Given the description of an element on the screen output the (x, y) to click on. 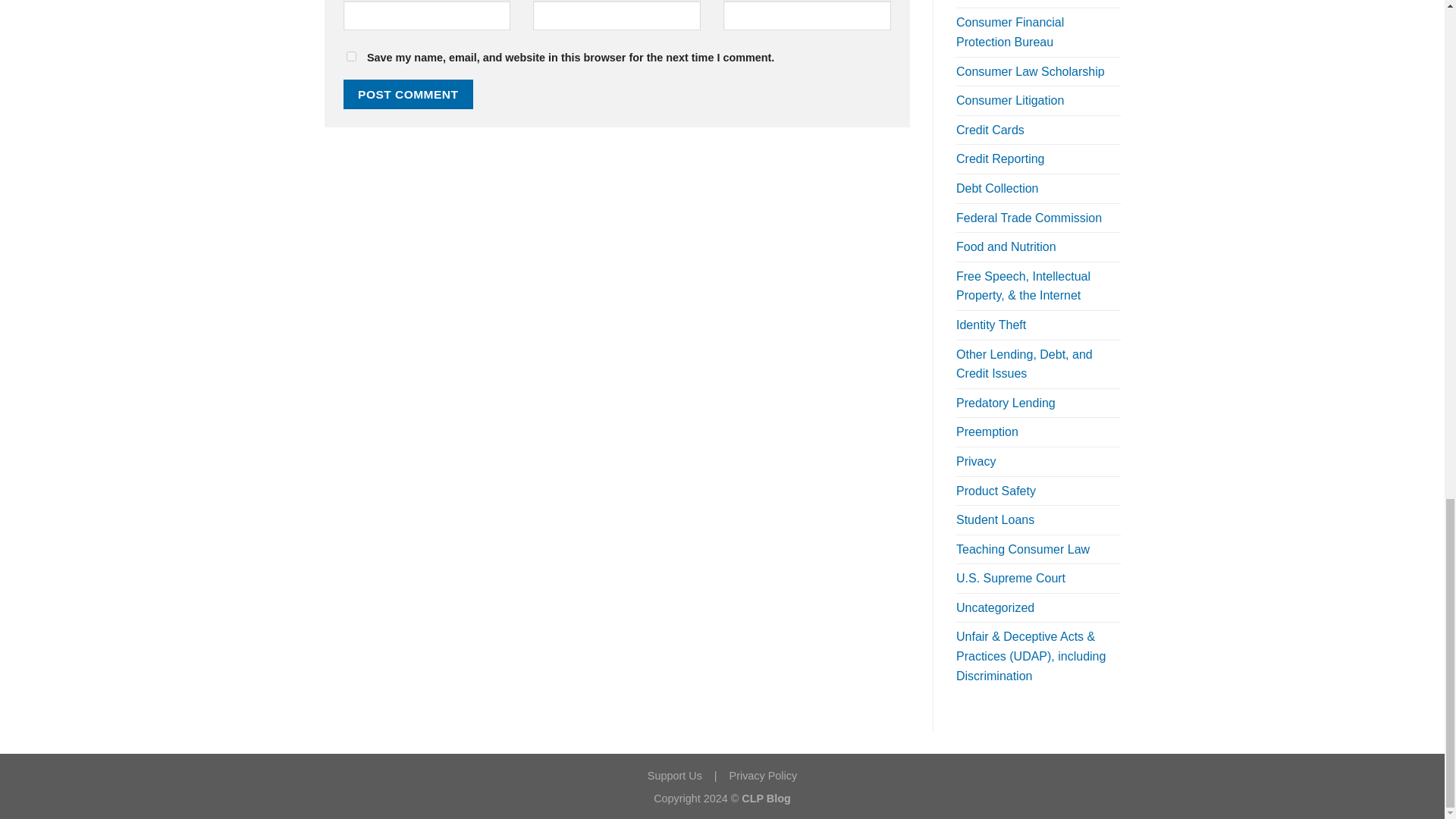
Post Comment (407, 93)
Post Comment (407, 93)
yes (350, 56)
